Given the description of an element on the screen output the (x, y) to click on. 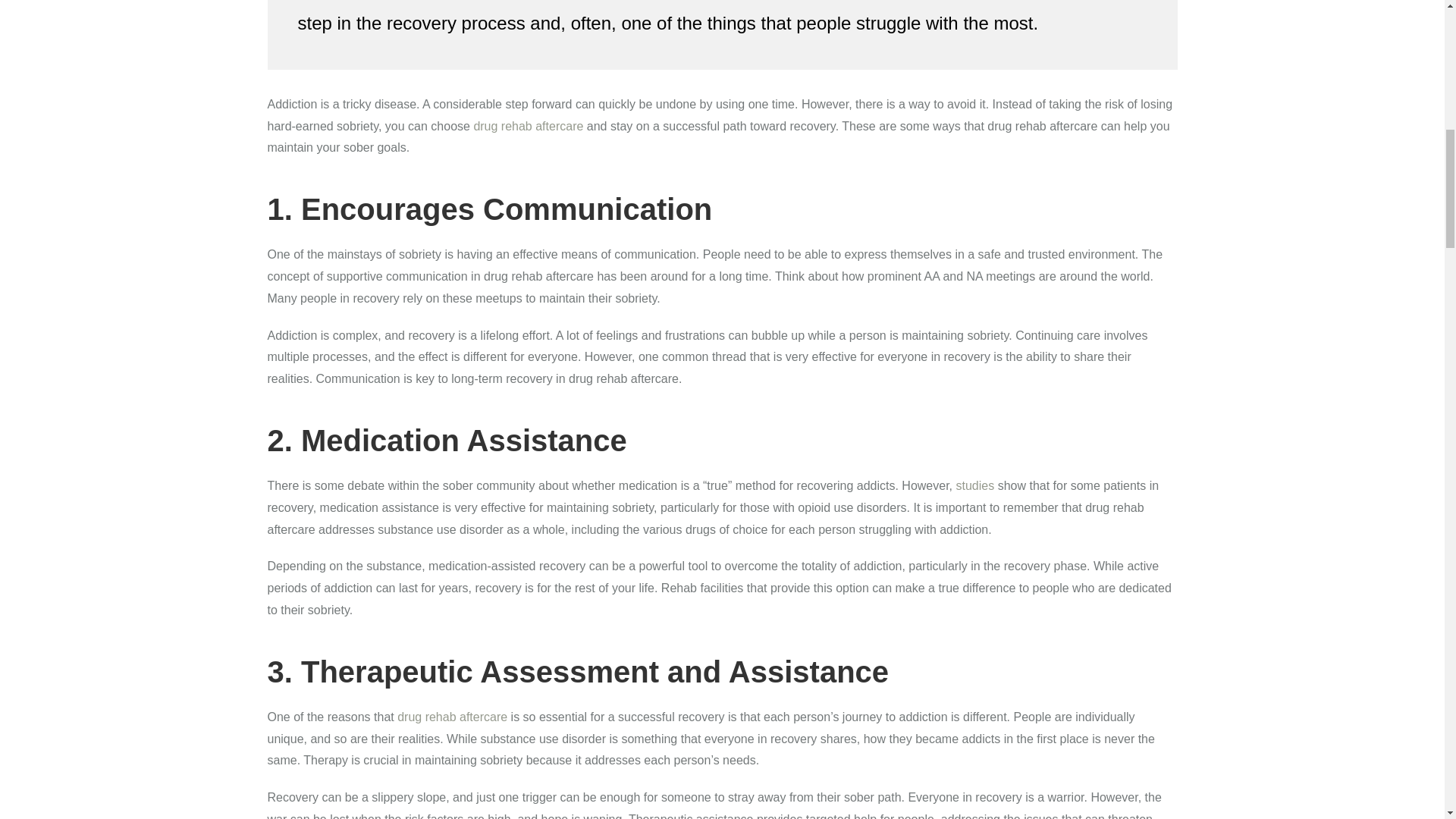
drug rehab aftercare (528, 125)
studies (974, 485)
